Given the description of an element on the screen output the (x, y) to click on. 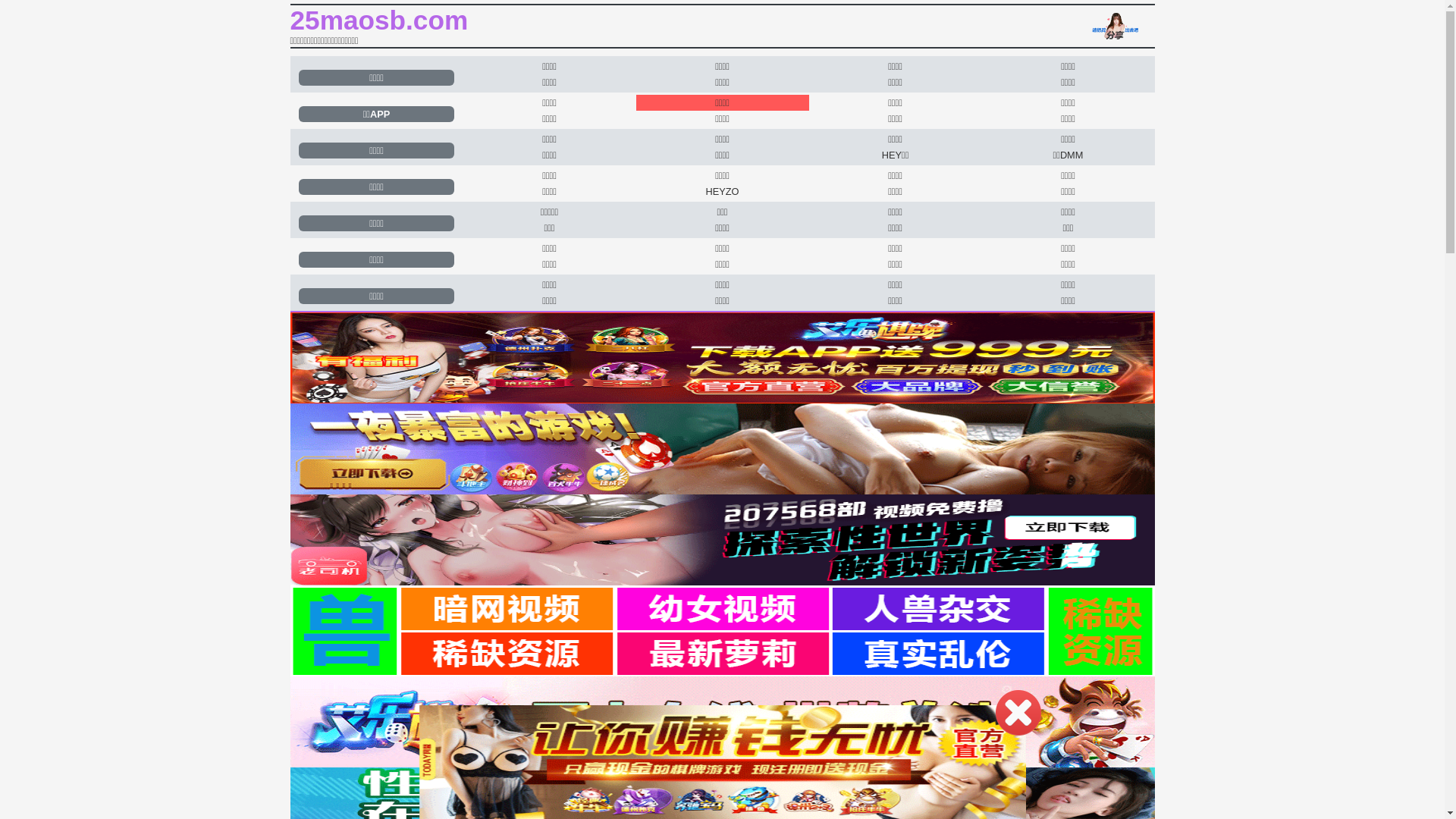
HEYZO Element type: text (722, 191)
